Given the description of an element on the screen output the (x, y) to click on. 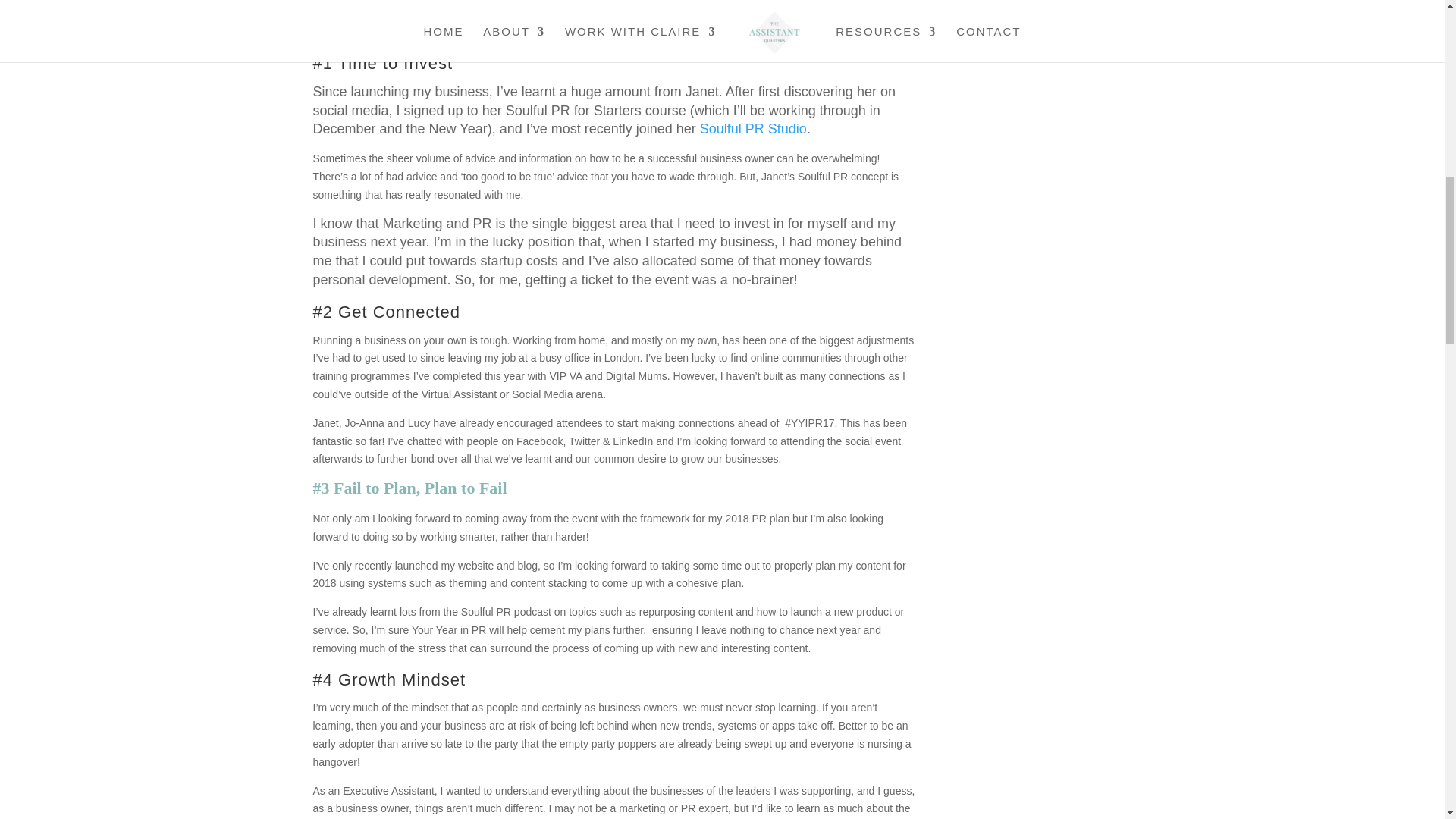
Soulful PR Studio (753, 128)
